Given the description of an element on the screen output the (x, y) to click on. 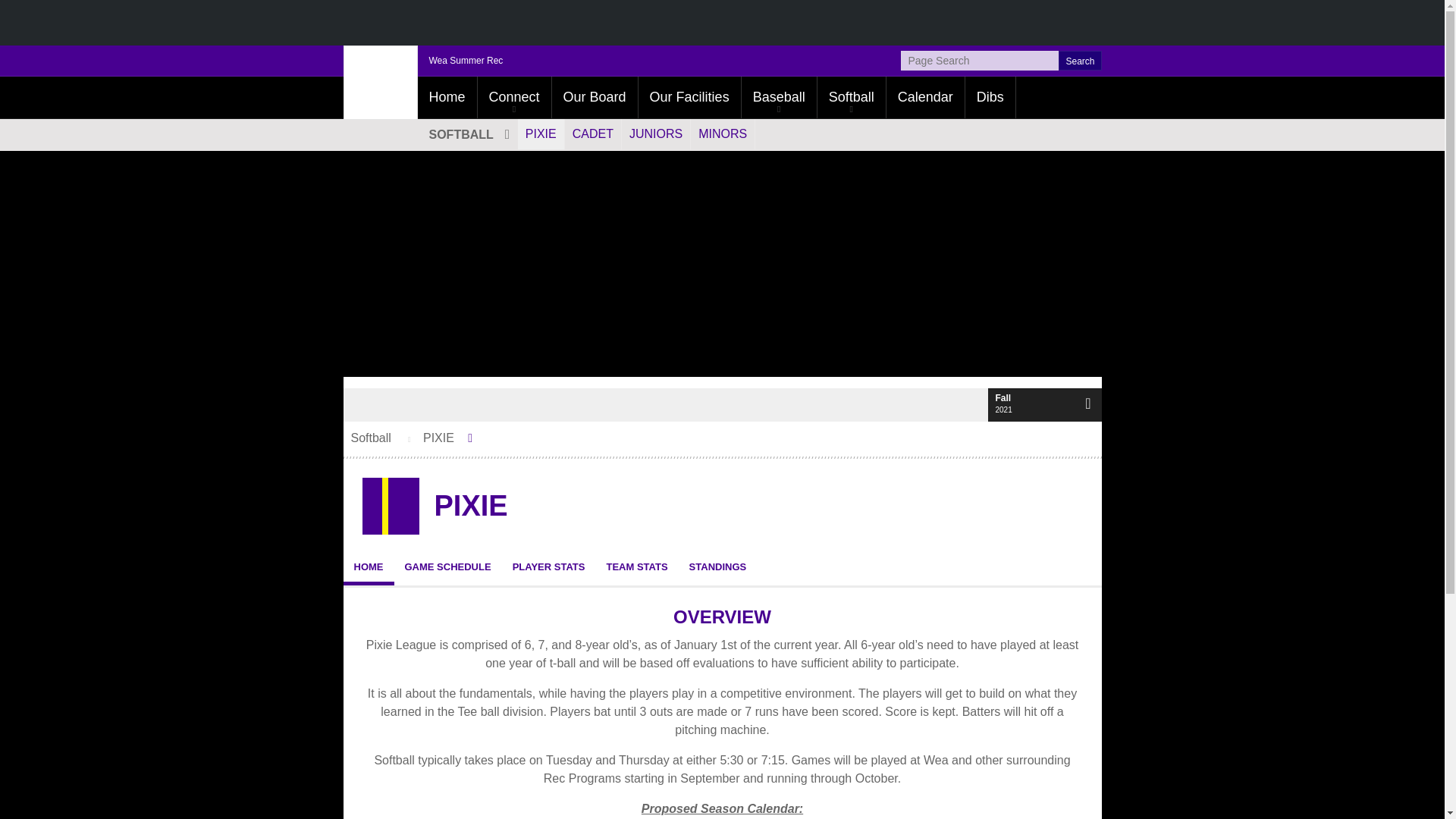
Our Facilities (690, 96)
click to go to 'Connect' (514, 96)
click to go to 'Our Board' (594, 96)
PLAYER STATS (548, 567)
PIXIE (541, 133)
click to go to 'Softball' (850, 96)
click to go to 'Calendar' (924, 96)
click to go to 'JUNIORS' (655, 133)
SOFTBALL (466, 133)
HOME (367, 567)
click to go to 'MINORS' (722, 133)
STANDINGS (717, 567)
Dibs (989, 96)
click to go to 'CADET' (592, 133)
Calendar (924, 96)
